Given the description of an element on the screen output the (x, y) to click on. 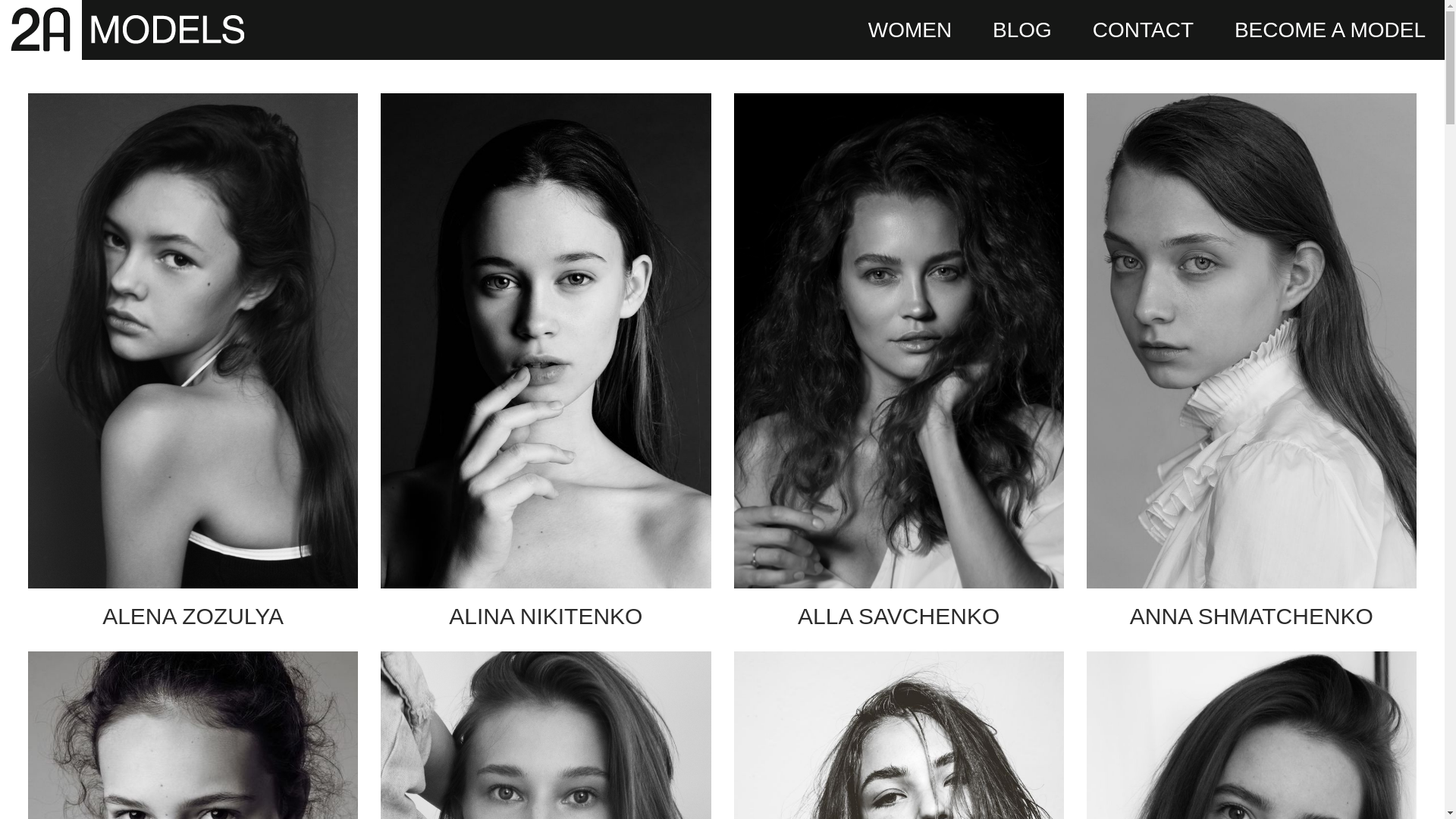
ALINA NIKITENKO Element type: text (545, 372)
CONTACT Element type: text (1142, 29)
ALLA SAVCHENKO Element type: text (897, 372)
ANNA SHMATCHENKO Element type: text (1251, 372)
BECOME A MODEL Element type: text (1329, 29)
ALENA ZOZULYA Element type: text (192, 372)
WOMEN Element type: text (909, 29)
BLOG Element type: text (1021, 29)
